Given the description of an element on the screen output the (x, y) to click on. 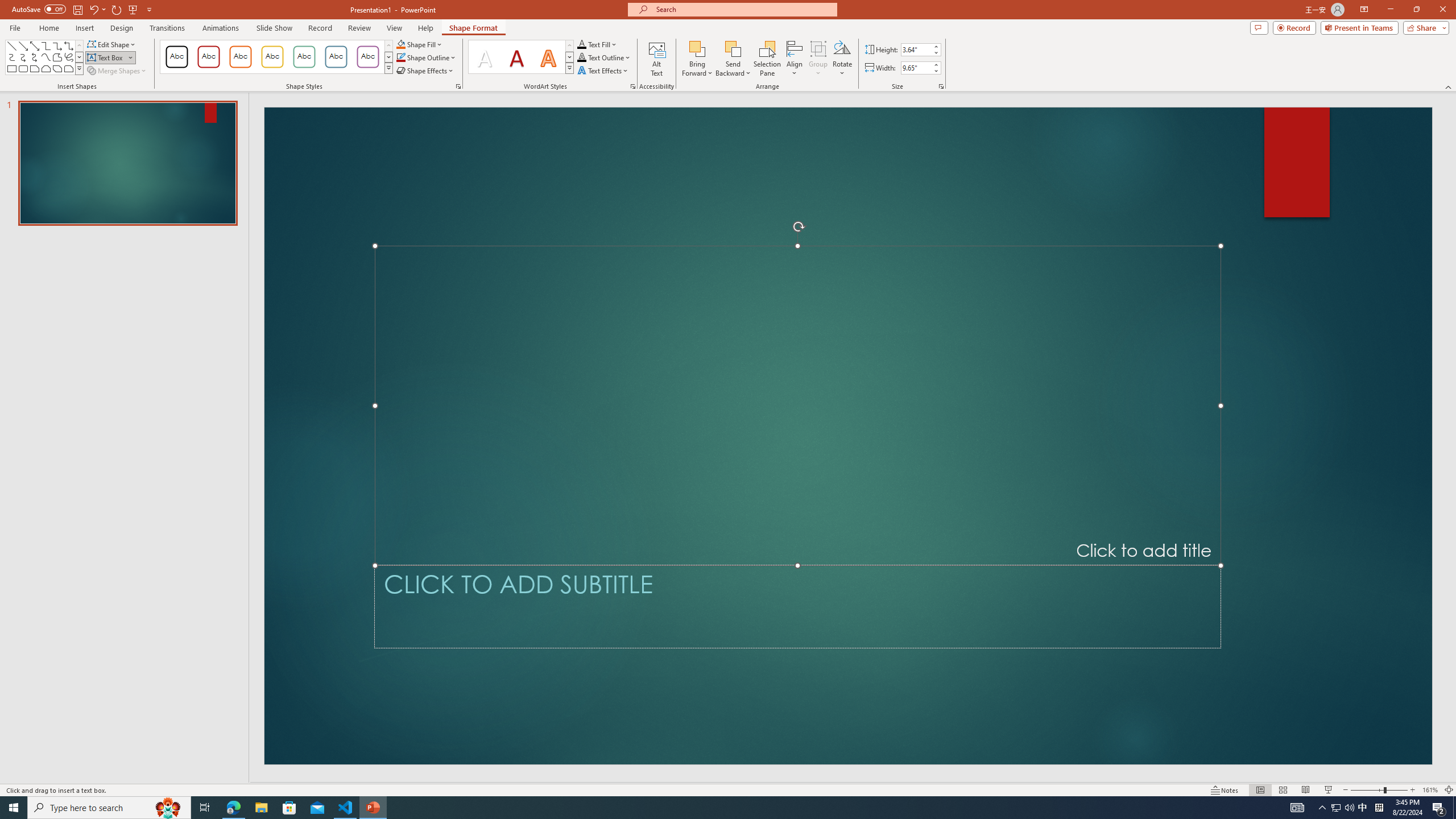
Align (794, 58)
Fill: White, Text color 1; Shadow (484, 56)
Size and Position... (941, 85)
Colored Outline - Orange, Accent 2 (240, 56)
